Given the description of an element on the screen output the (x, y) to click on. 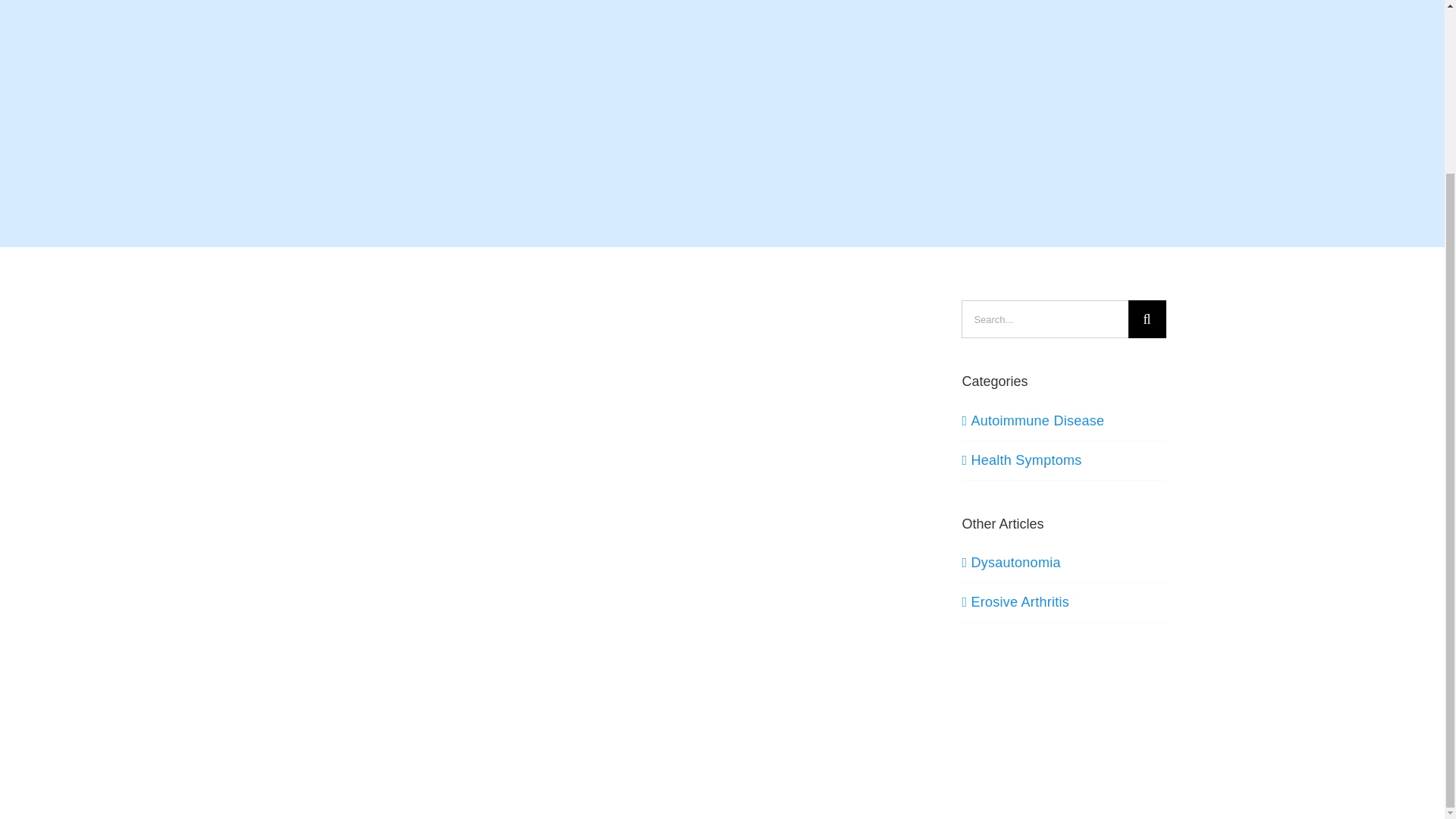
Erosive Arthritis (1019, 601)
Health Symptoms (1064, 460)
Autoimmune Disease (1064, 421)
Dysautonomia (1015, 562)
